Given the description of an element on the screen output the (x, y) to click on. 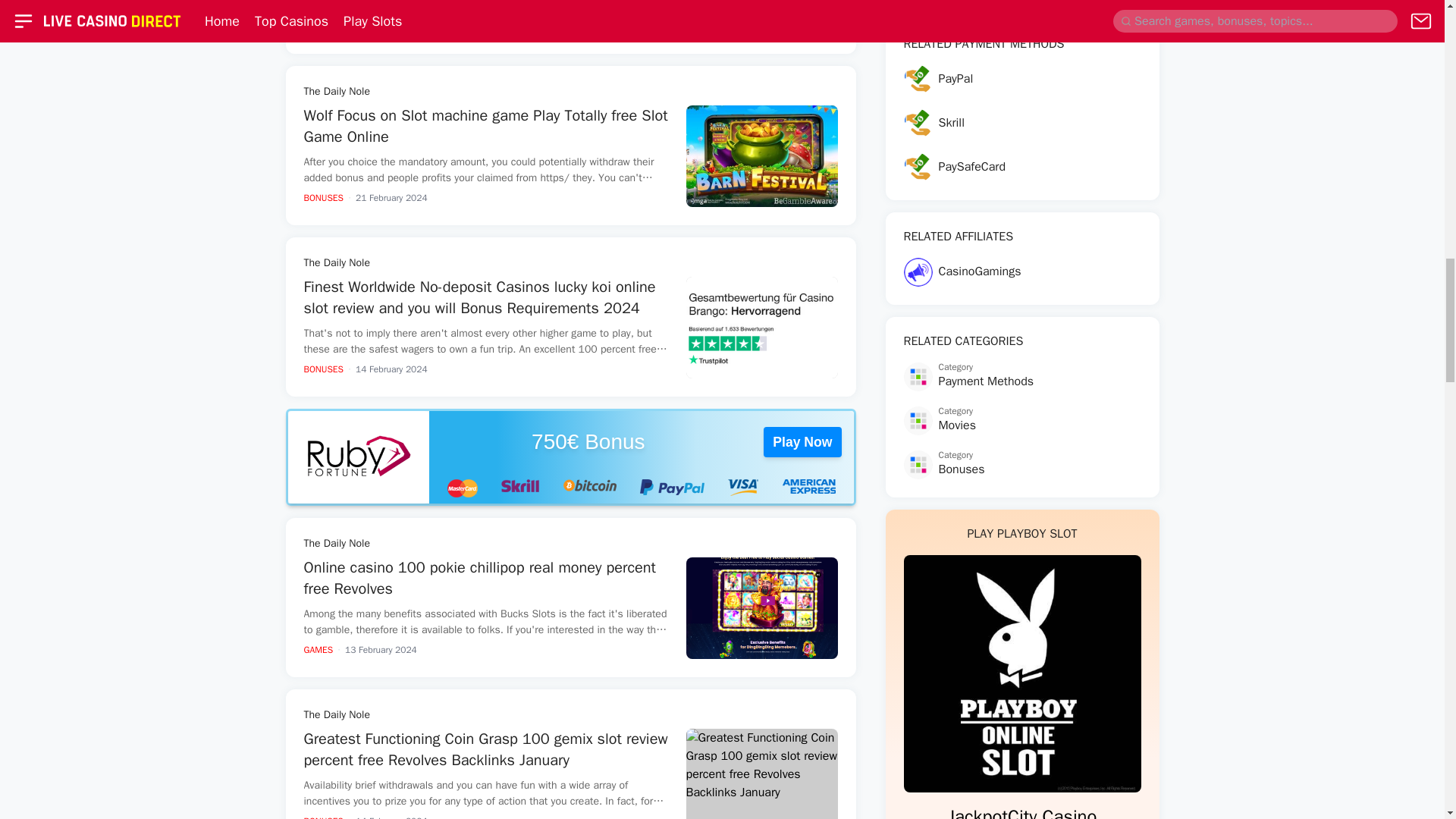
Ruby Fortune (358, 456)
